Given the description of an element on the screen output the (x, y) to click on. 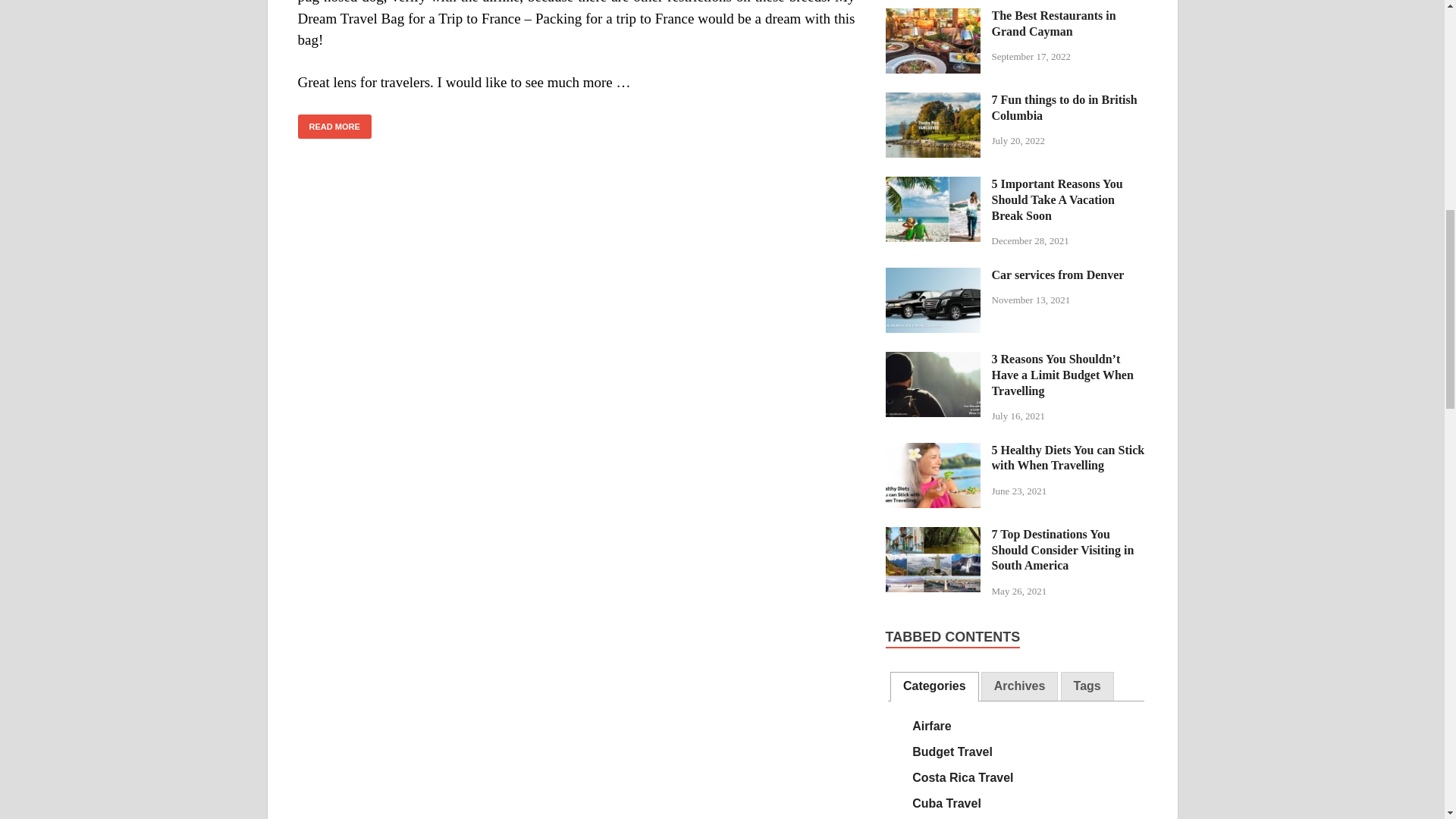
The Best Restaurants in Grand Cayman (932, 16)
Car services from Denver (932, 276)
5 Important Reasons You Should Take A Vacation Break Soon (932, 185)
5 Healthy Diets You can Stick with When Travelling (932, 451)
7 Fun things to do in British Columbia (932, 101)
